Given the description of an element on the screen output the (x, y) to click on. 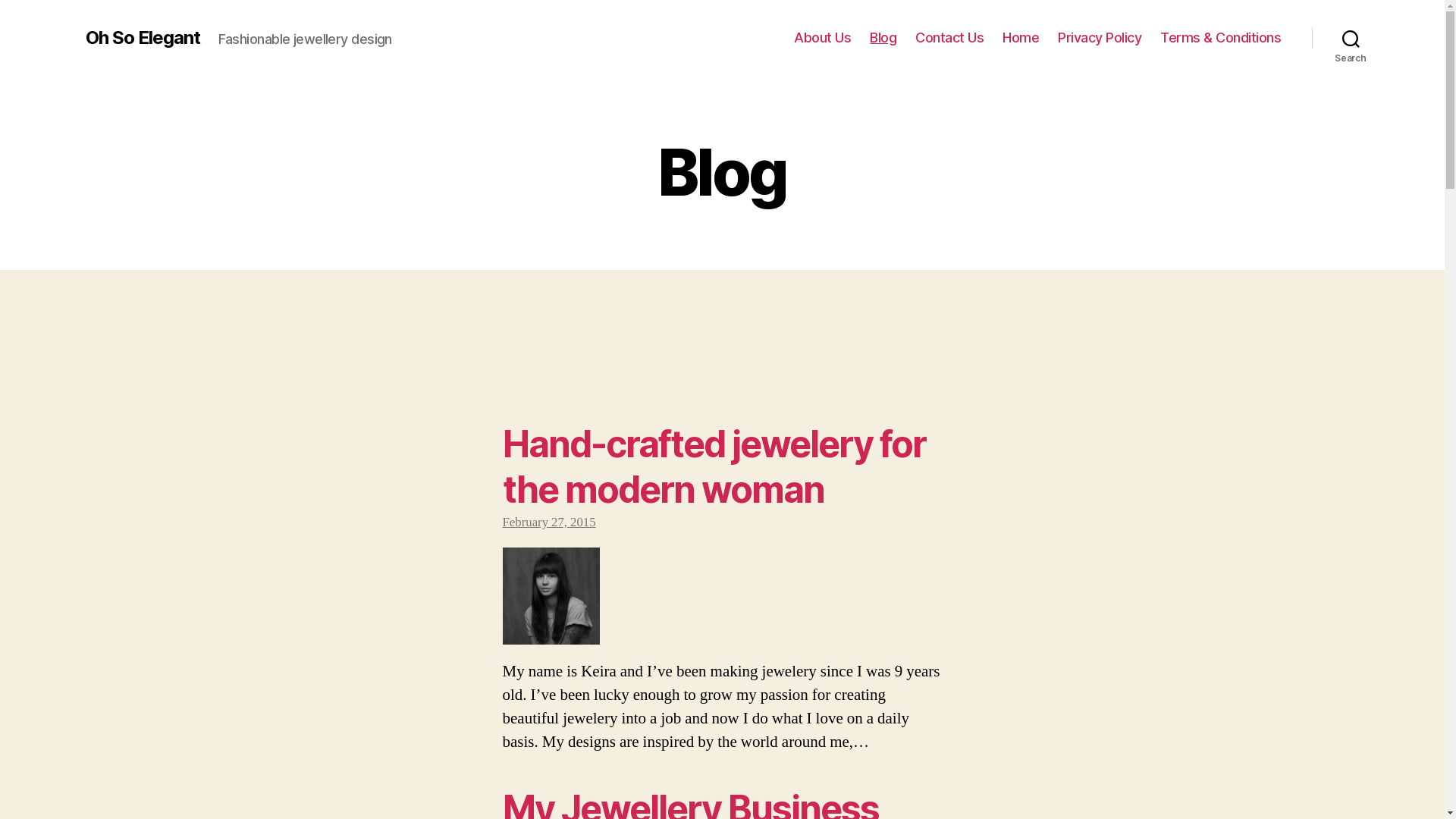
Terms & Conditions Element type: text (1220, 37)
February 27, 2015 Element type: text (548, 522)
Privacy Policy Element type: text (1099, 37)
Search Element type: text (1350, 37)
About Us Element type: text (821, 37)
Blog Element type: text (882, 37)
Home Element type: text (1020, 37)
Hand-crafted jewelery for the modern woman Element type: hover (721, 595)
Contact Us Element type: text (949, 37)
Oh So Elegant Element type: text (141, 37)
Hand-crafted jewelery for the modern woman Element type: text (713, 466)
